Given the description of an element on the screen output the (x, y) to click on. 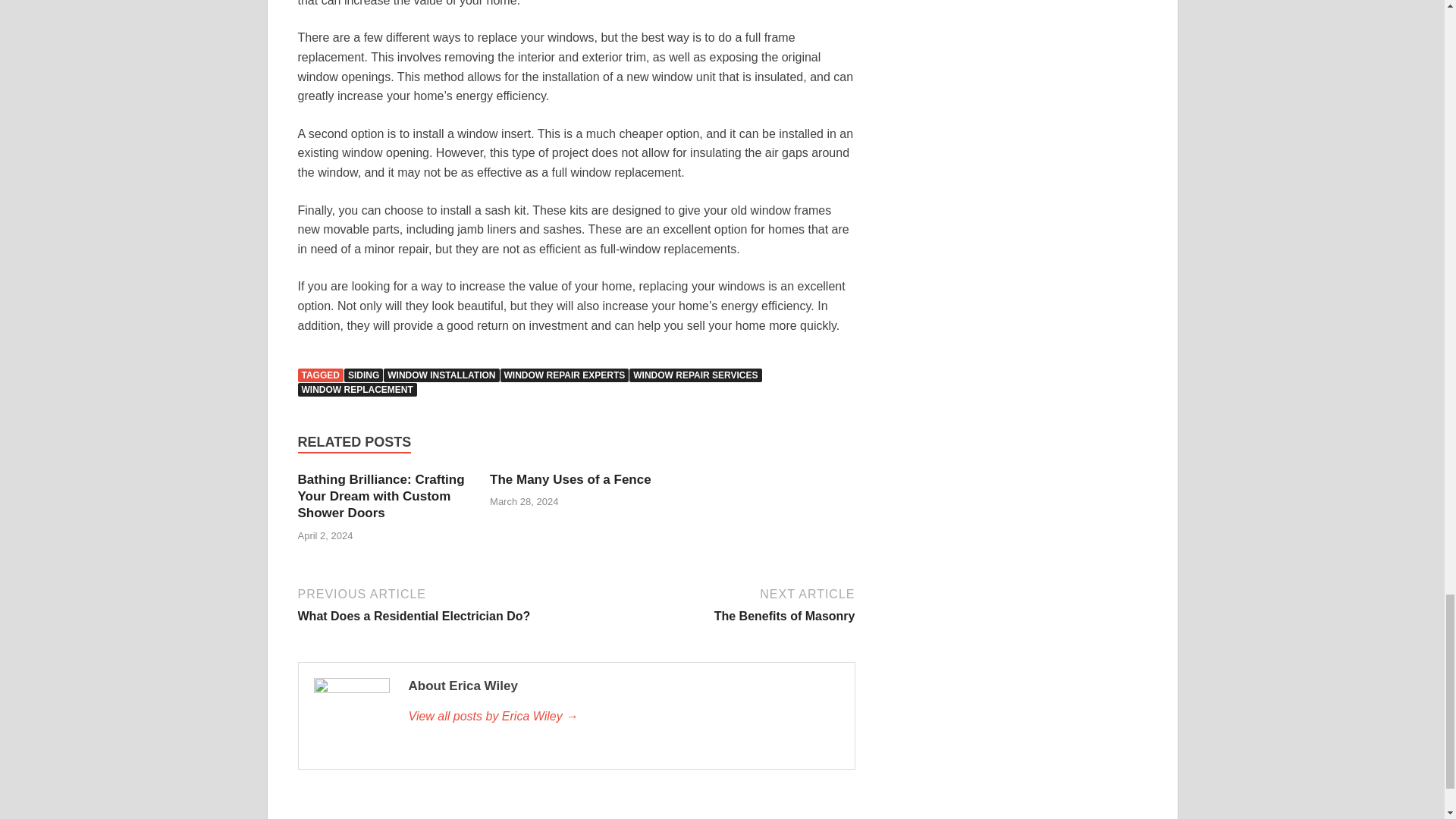
The Many Uses of a Fence (569, 479)
WINDOW INSTALLATION (441, 375)
WINDOW REPAIR EXPERTS (564, 375)
The Many Uses of a Fence (569, 479)
SIDING (434, 603)
Erica Wiley (362, 375)
WINDOW REPLACEMENT (622, 716)
WINDOW REPAIR SERVICES (356, 389)
